Given the description of an element on the screen output the (x, y) to click on. 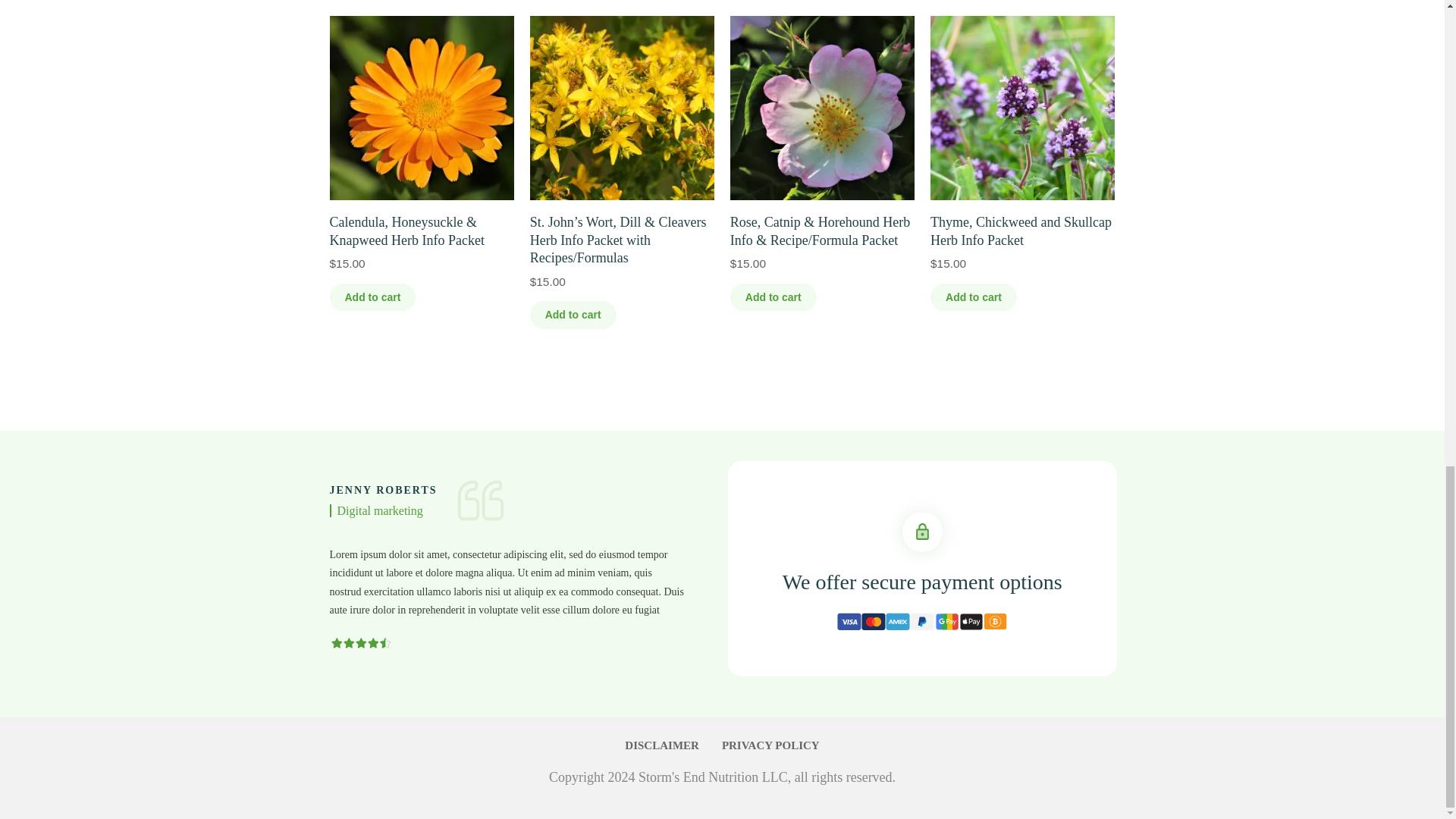
Add to cart (572, 315)
Add to cart (973, 297)
Add to cart (371, 297)
Add to cart (773, 297)
PRIVACY POLICY (770, 744)
DISCLAIMER (661, 744)
